Given the description of an element on the screen output the (x, y) to click on. 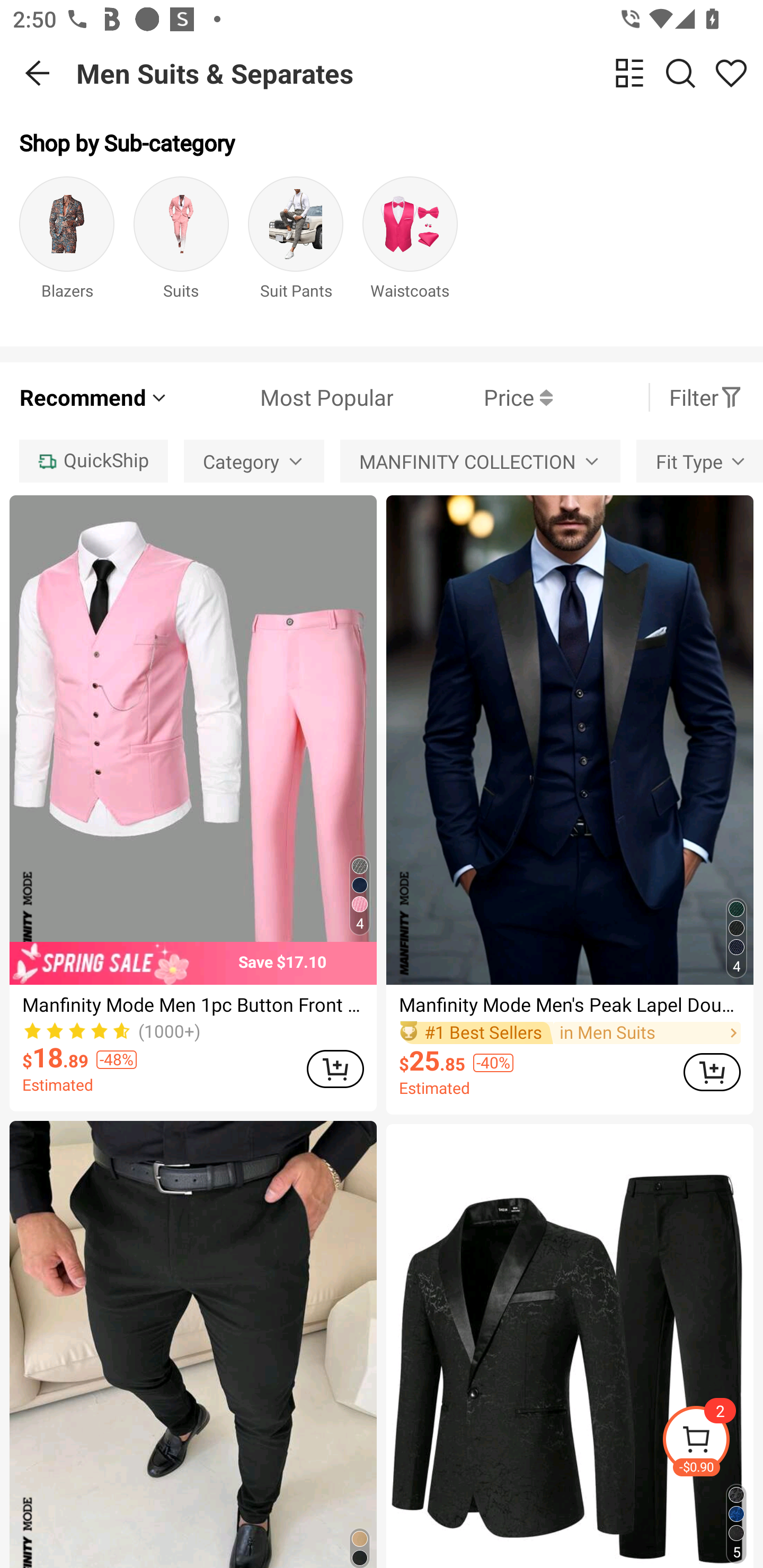
Men Suits & Separates change view Search Share (419, 72)
change view (629, 72)
Search (679, 72)
Share (730, 72)
Blazers (66, 251)
Suits (180, 251)
Suit Pants (295, 251)
Waistcoats (409, 251)
Recommend (94, 397)
Most Popular (280, 397)
Price (472, 397)
Filter (705, 397)
QuickShip (93, 460)
Category (253, 460)
MANFINITY COLLECTION (480, 460)
Fit Type (699, 460)
#1 Best Sellers in Men Suits (569, 1032)
ADD TO CART (334, 1069)
ADD TO CART (711, 1072)
-$0.90 (712, 1441)
